Given the description of an element on the screen output the (x, y) to click on. 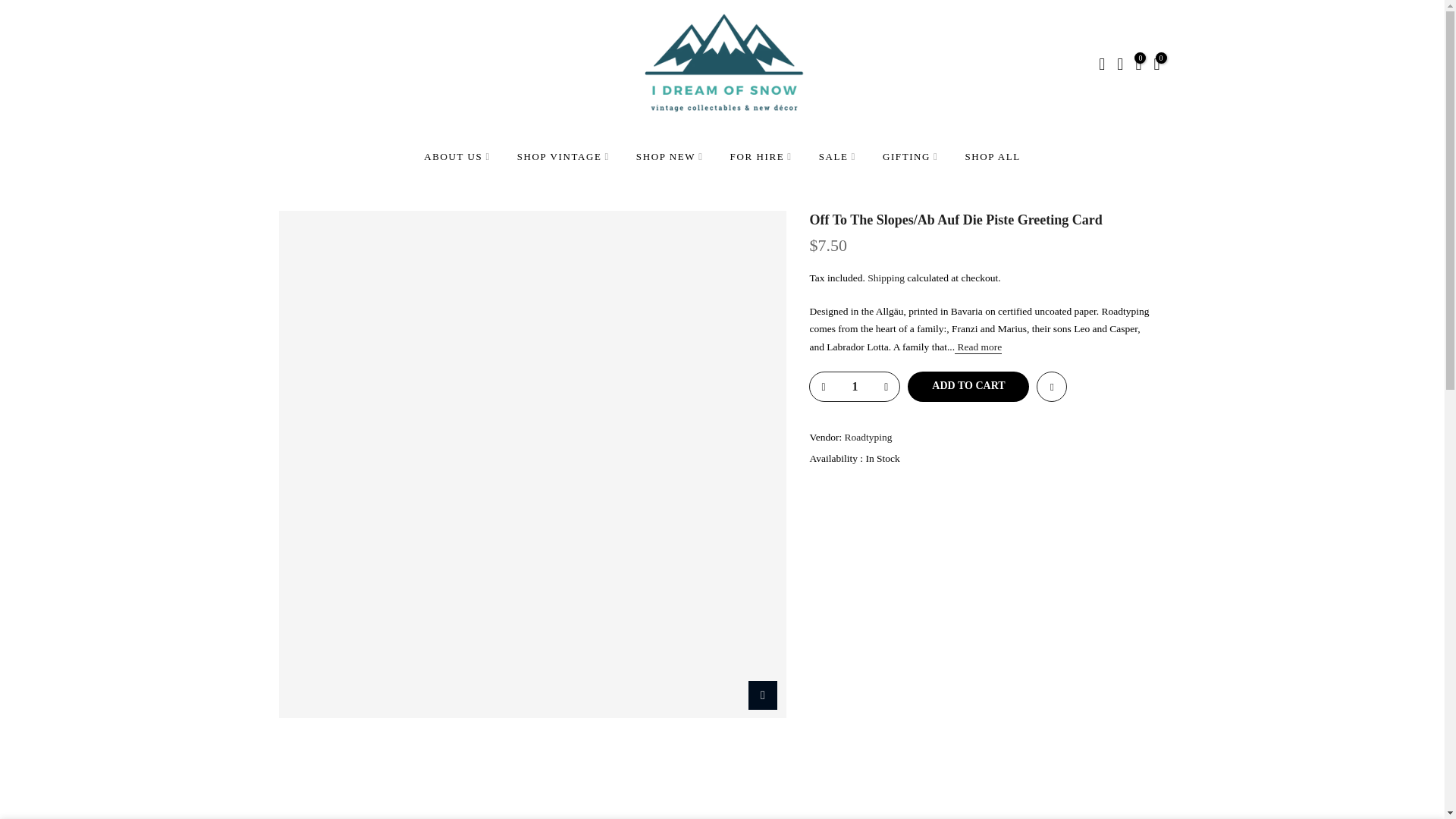
0 (1138, 66)
Roadtyping (868, 437)
SHOP VINTAGE (563, 155)
1 (854, 386)
ABOUT US (456, 155)
